Given the description of an element on the screen output the (x, y) to click on. 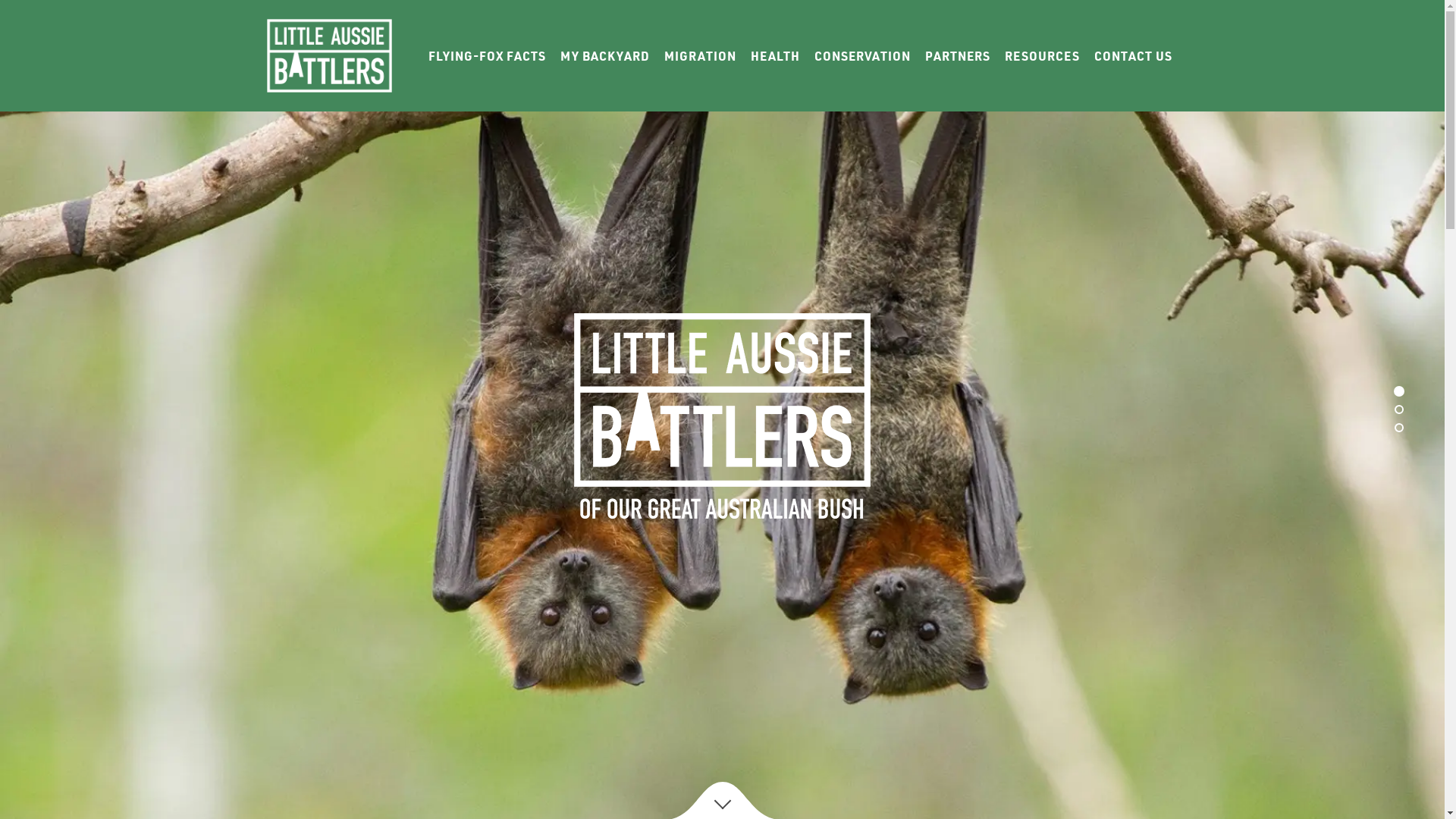
Little Aussie Battlers Element type: hover (331, 55)
HEALTH Element type: text (775, 55)
FLYING-FOX FACTS Element type: text (486, 55)
MY BACKYARD Element type: text (604, 55)
MIGRATION Element type: text (700, 55)
RESOURCES Element type: text (1041, 55)
CONTACT US Element type: text (1132, 55)
PARTNERS Element type: text (957, 55)
CONSERVATION Element type: text (862, 55)
